Given the description of an element on the screen output the (x, y) to click on. 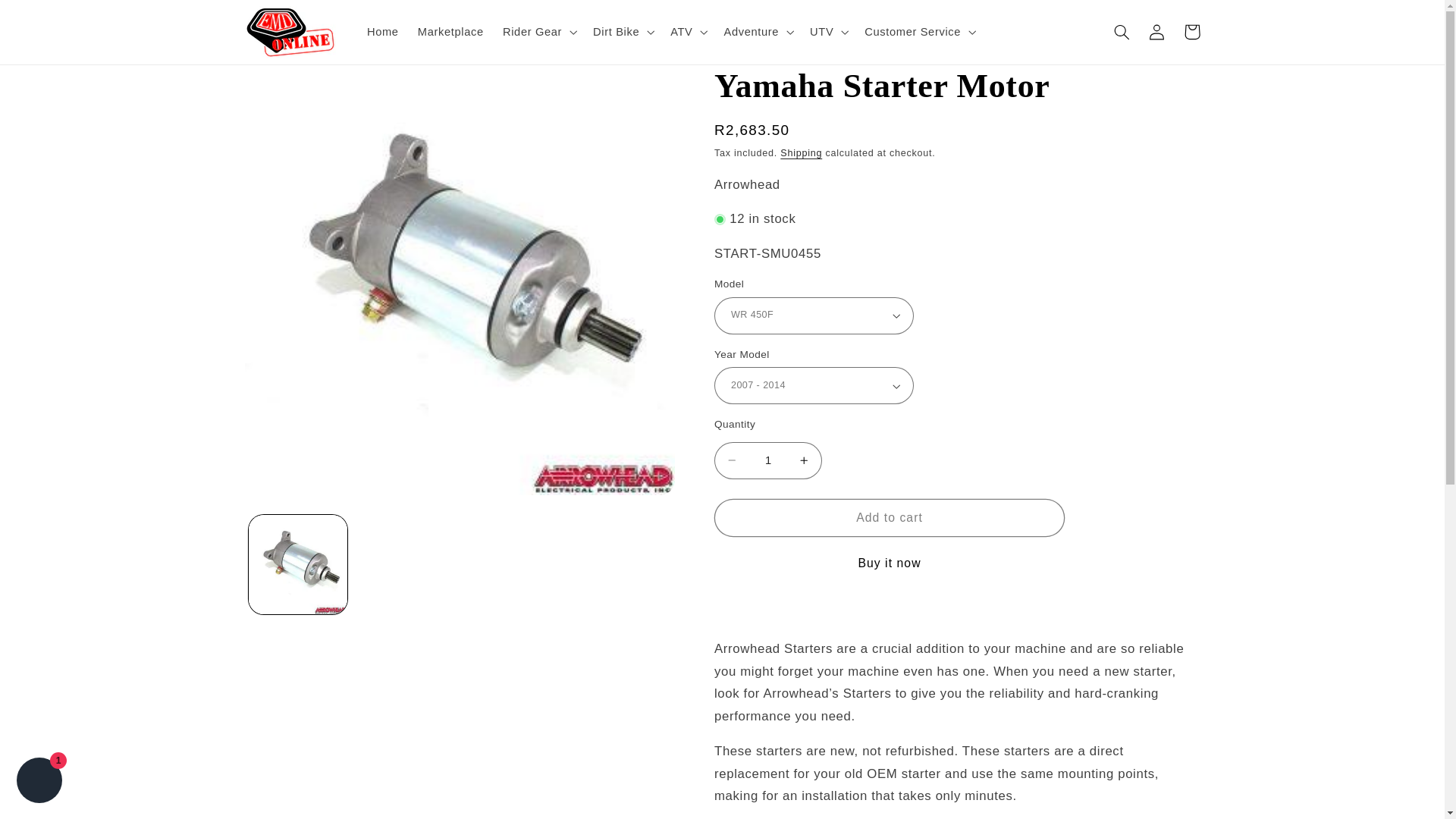
1 (768, 460)
Skip to content (48, 18)
Shopify online store chat (38, 781)
